Given the description of an element on the screen output the (x, y) to click on. 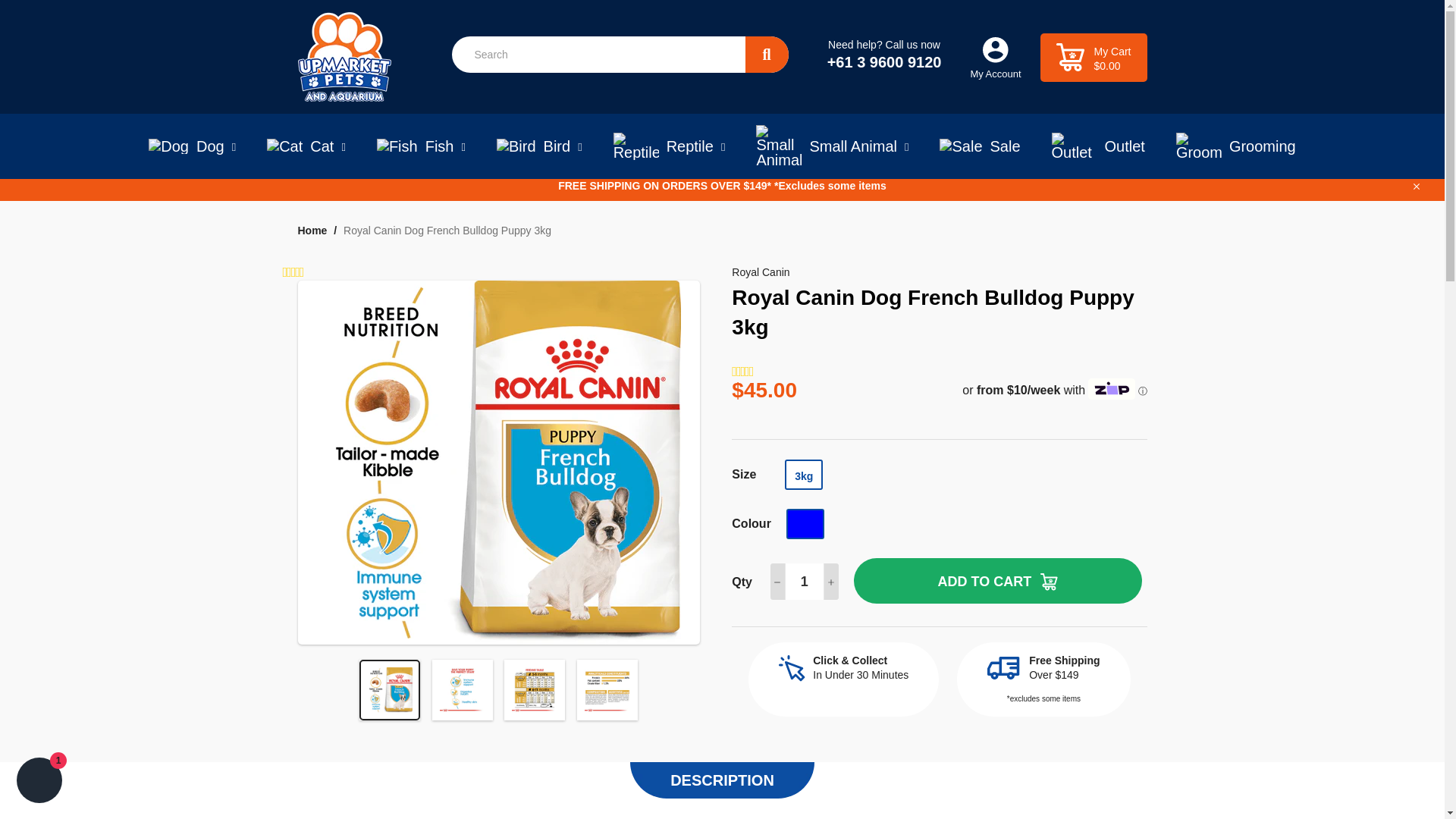
1 (804, 581)
